Given the description of an element on the screen output the (x, y) to click on. 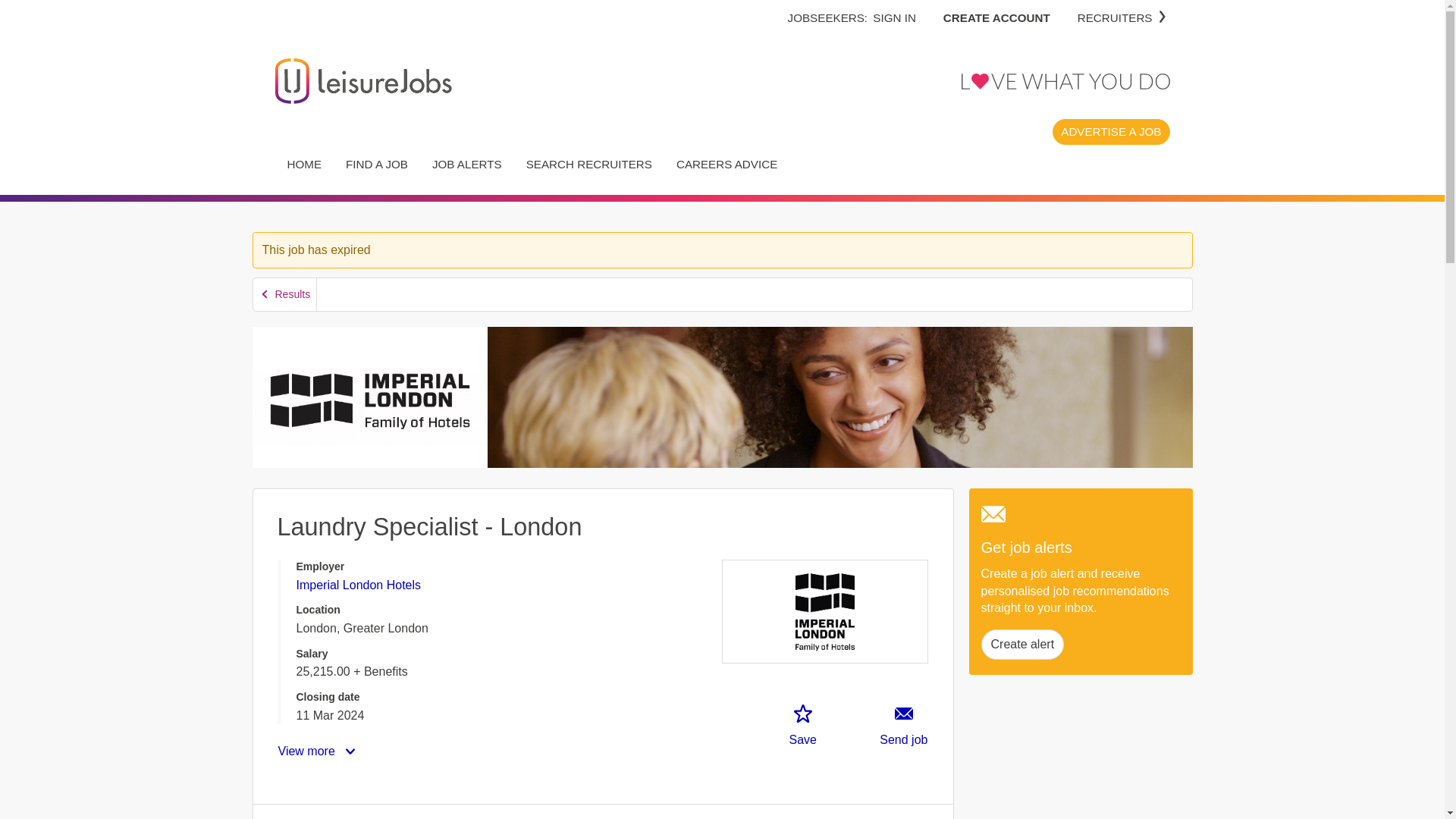
Create alert (1022, 644)
Results (285, 294)
Company (445, 811)
View more (318, 751)
Job Details (316, 811)
SIGN IN (894, 17)
SEARCH RECRUITERS (588, 163)
Leisurejobs (363, 81)
RECRUITERS (1122, 17)
ADVERTISE A JOB (1110, 131)
CAREERS ADVICE (726, 163)
Imperial London Hotels (357, 584)
JOB ALERTS (466, 163)
FIND A JOB (376, 163)
HOME (304, 163)
